Given the description of an element on the screen output the (x, y) to click on. 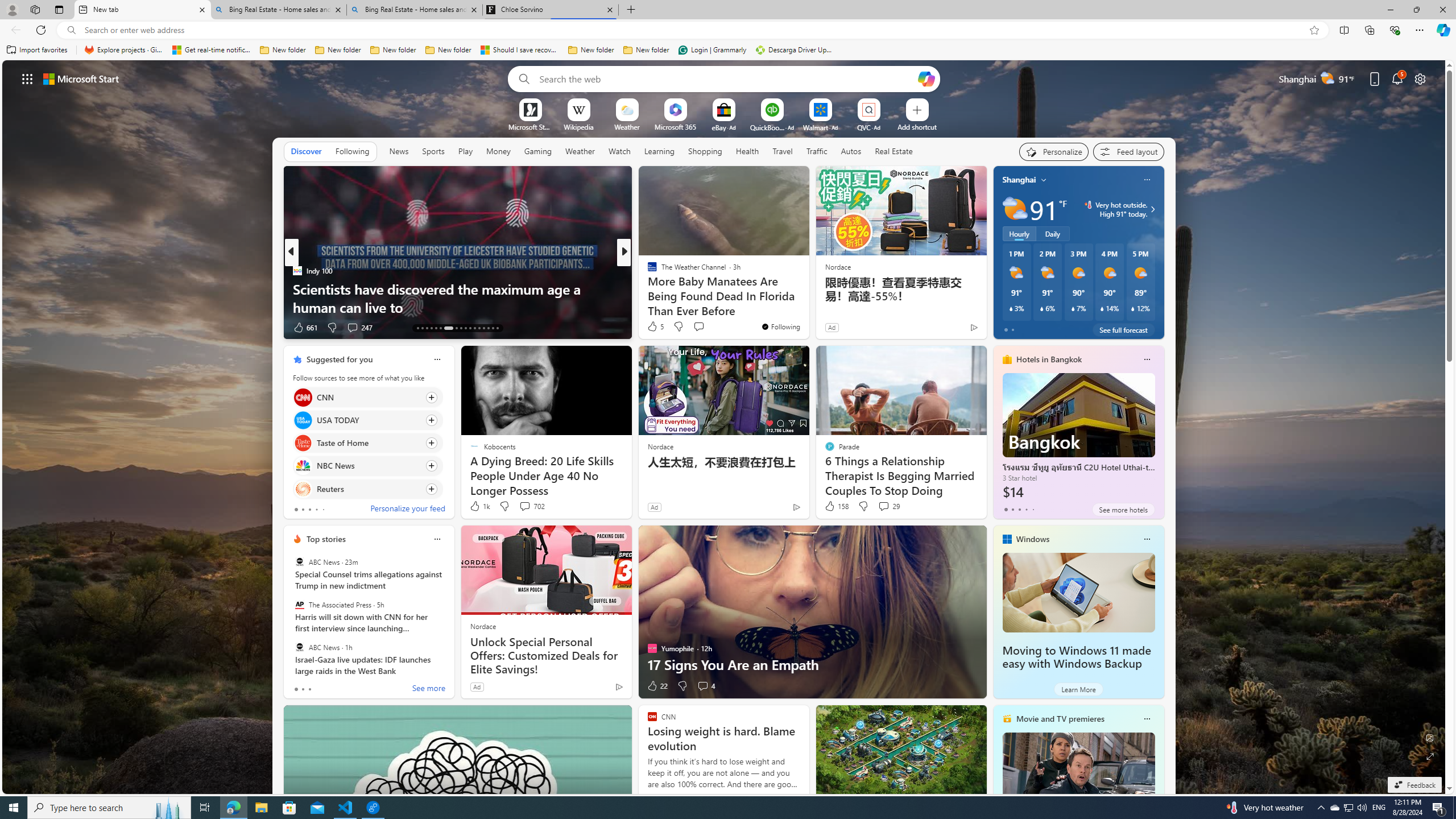
AutomationID: tab-15 (426, 328)
Moving to Windows 11 made easy with Windows Backup (1076, 657)
The Verge (647, 270)
Hourly (1018, 233)
Climate Crisis 247 (647, 270)
Click to follow source CNN (367, 397)
Click to follow source USA TODAY (367, 419)
Don't Use an Ordinary Backpack (807, 307)
